Given the description of an element on the screen output the (x, y) to click on. 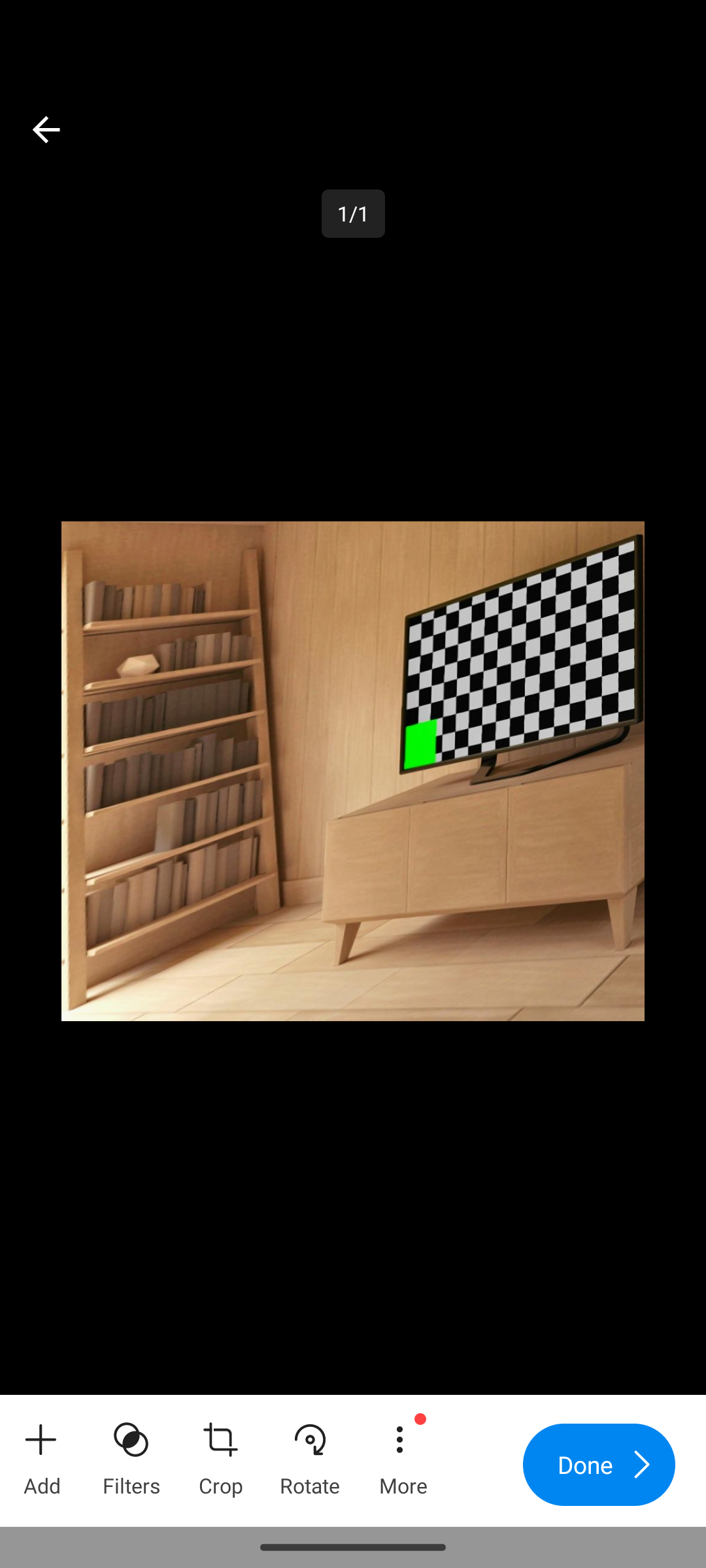
Back (46, 129)
Add more Add (41, 1453)
Filters (130, 1453)
Crop (220, 1453)
Rotate (309, 1453)
More (401, 1453)
Done (598, 1464)
